Given the description of an element on the screen output the (x, y) to click on. 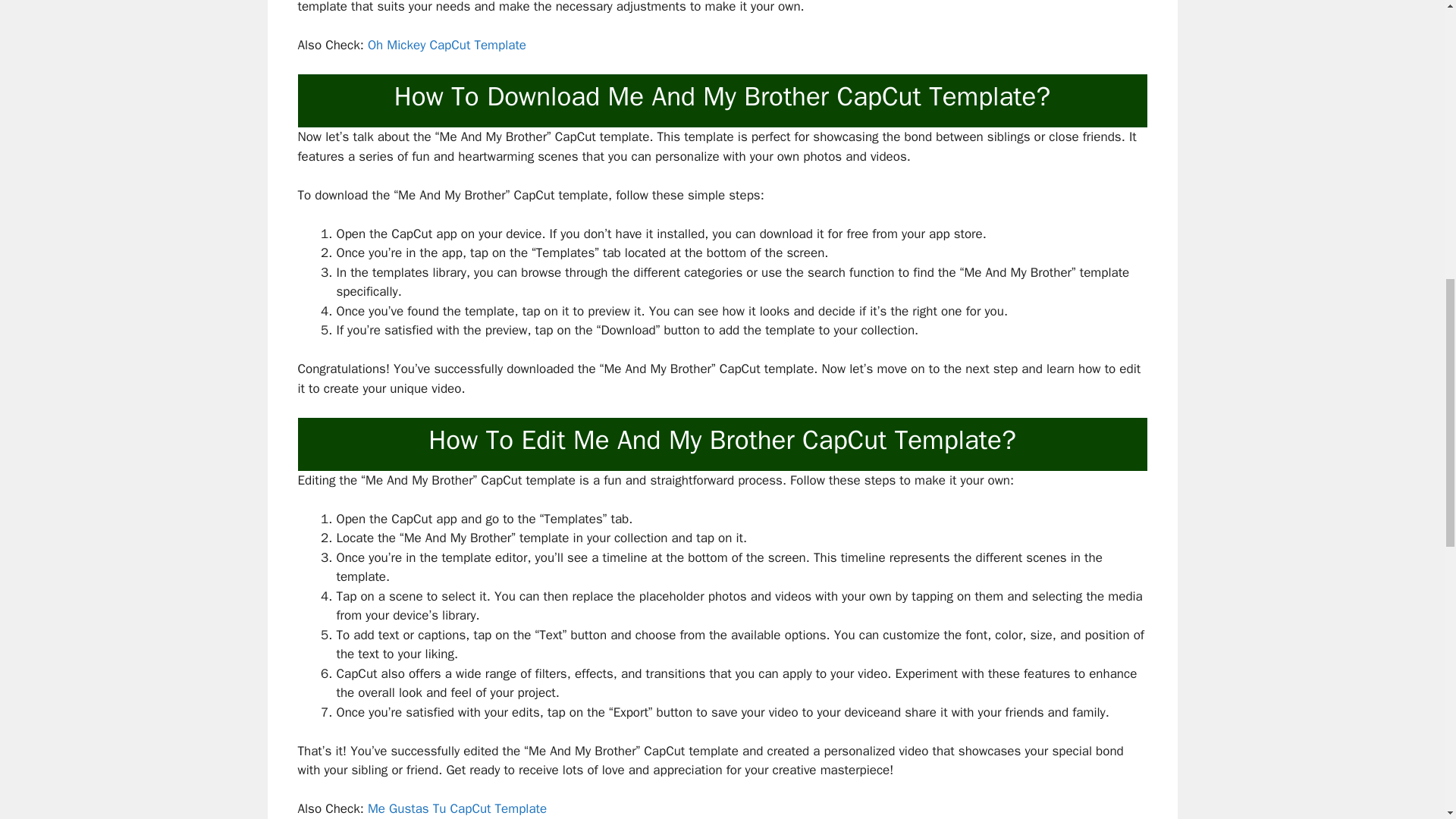
Me Gustas Tu CapCut Template (457, 808)
Oh Mickey CapCut Template (446, 44)
Scroll back to top (1406, 720)
